Given the description of an element on the screen output the (x, y) to click on. 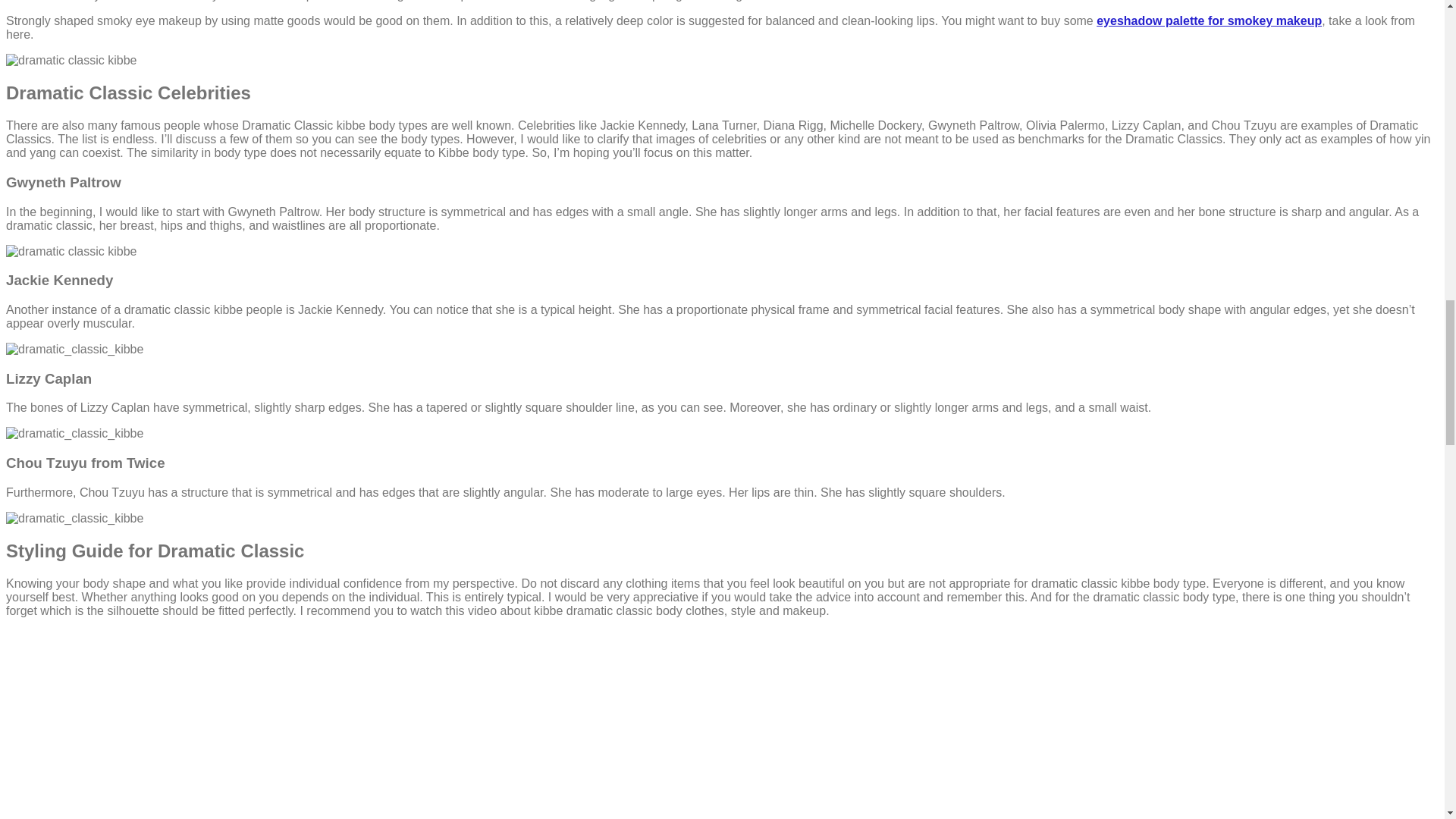
KIBBE DRAMATIC CLASSIC BODY TYPE CLOTHES, STYLE AND MAKEUP (352, 724)
